Given the description of an element on the screen output the (x, y) to click on. 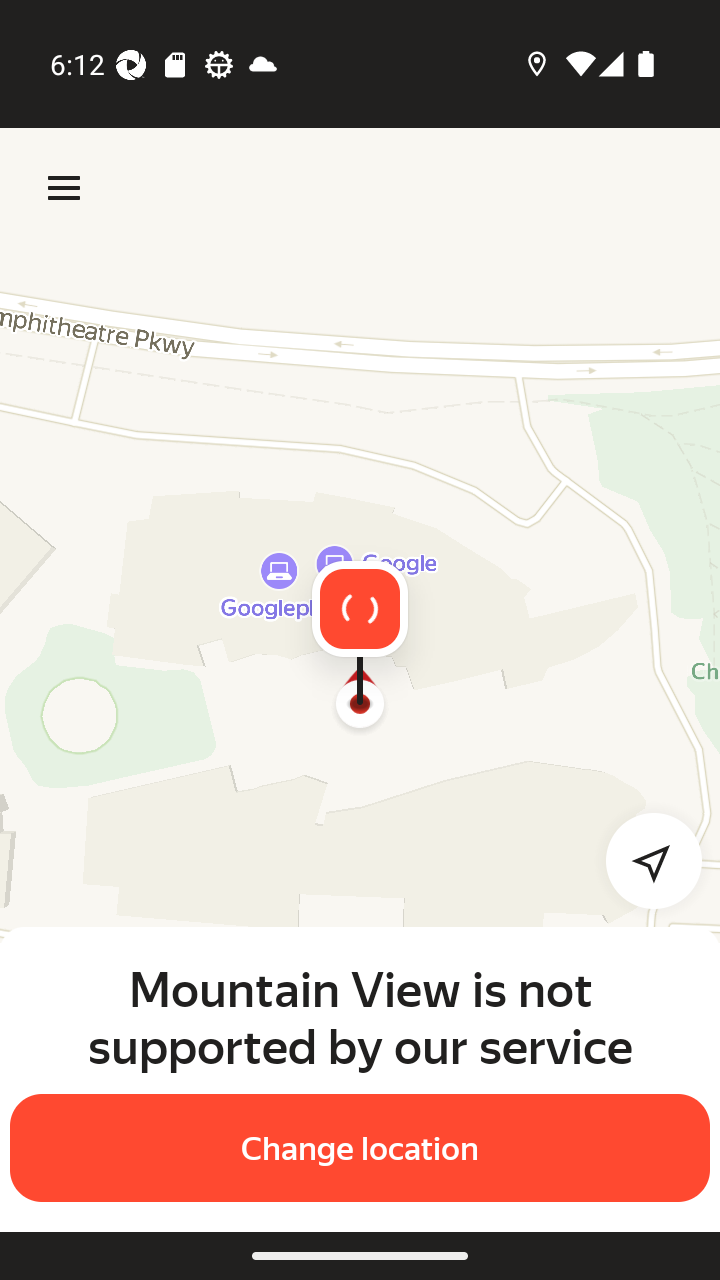
Menu Menu Menu (64, 188)
Detect my location (641, 860)
Mountain View is not supported by our service (360, 1017)
Change location (359, 1147)
